Given the description of an element on the screen output the (x, y) to click on. 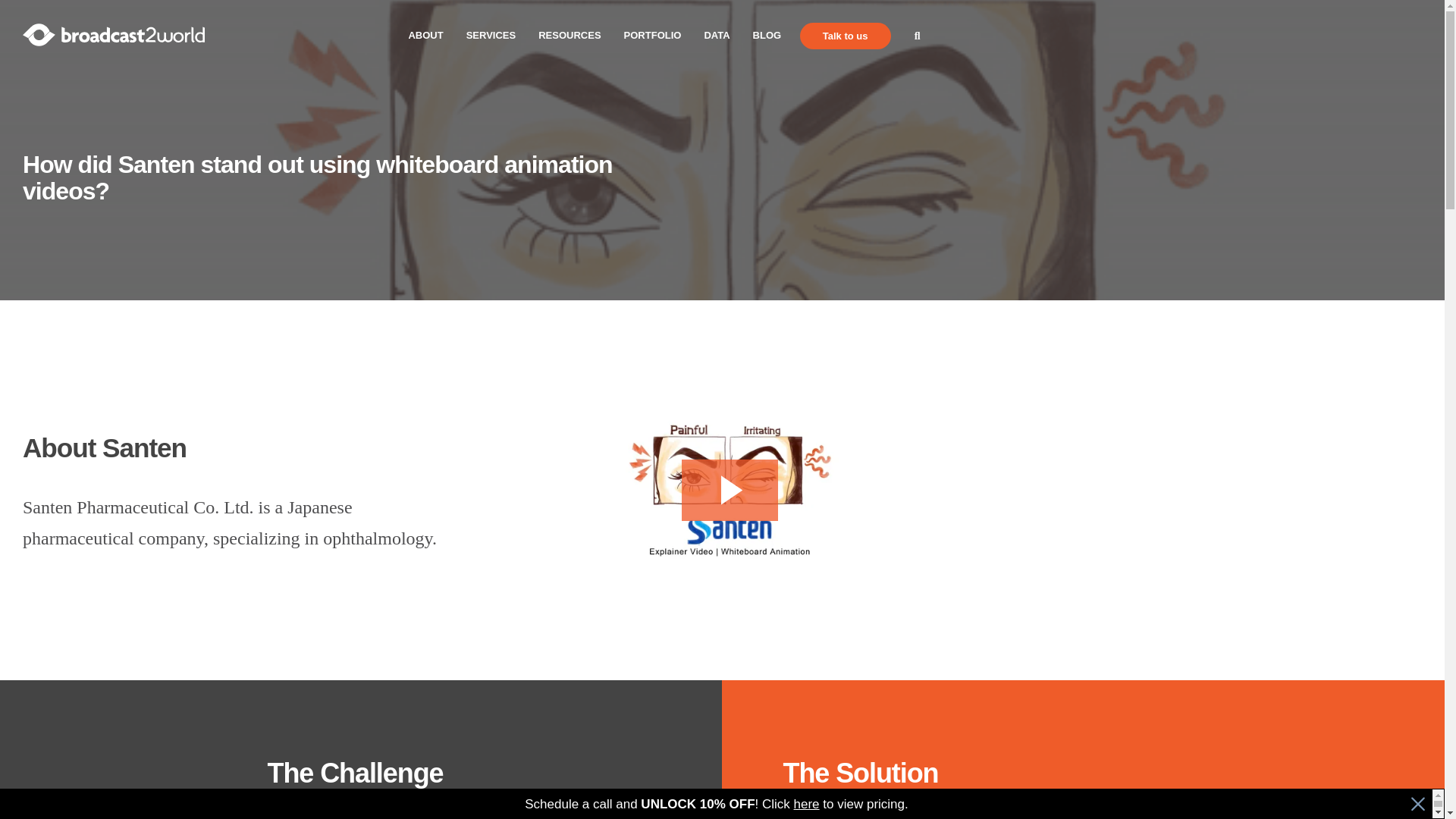
SERVICES (490, 35)
B2W Logo (114, 35)
